Given the description of an element on the screen output the (x, y) to click on. 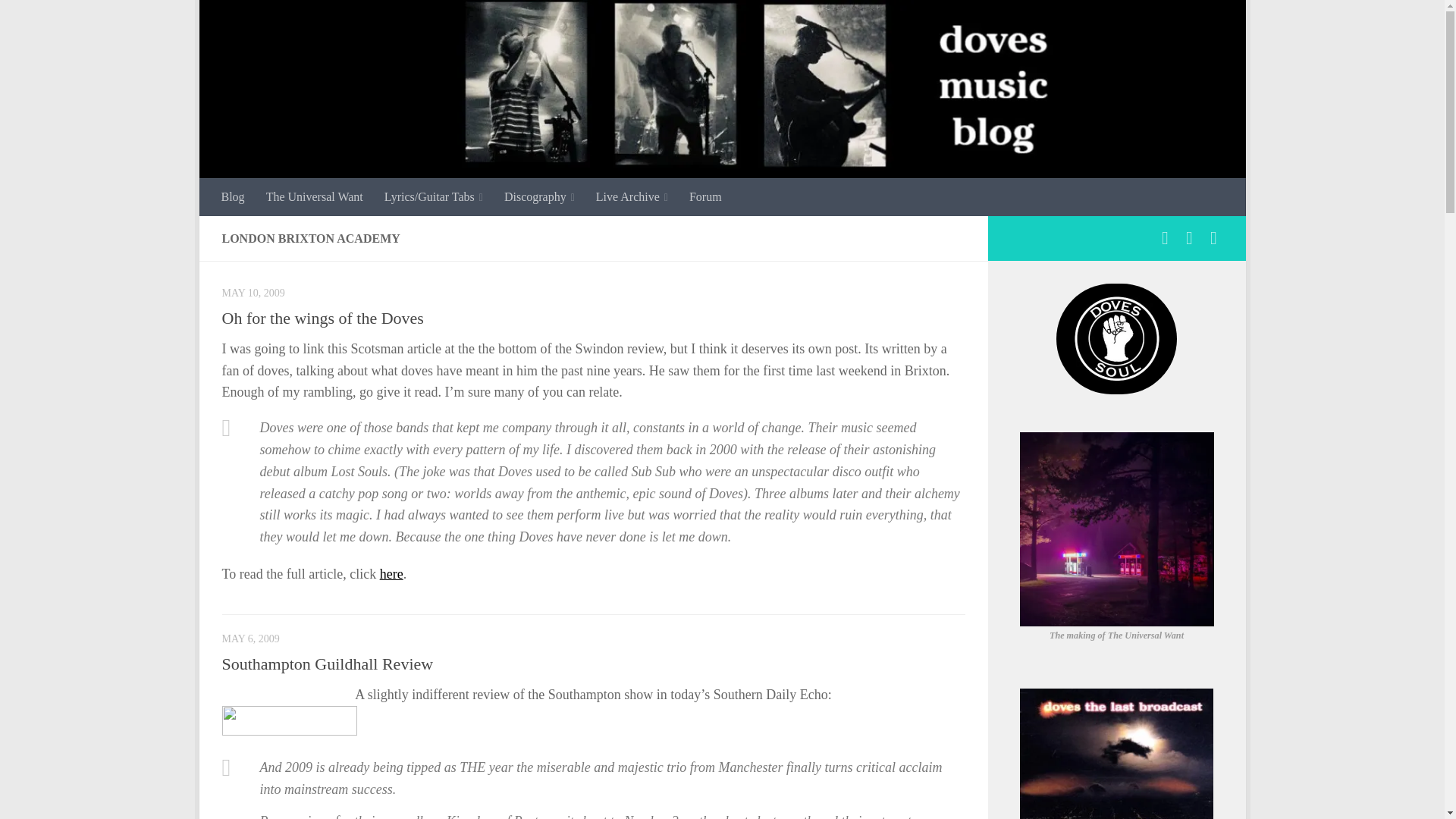
Blog (233, 197)
Skip to content (258, 20)
The Universal Want (315, 197)
Follow us on Twitter (1213, 238)
Follow us on Instagram (1188, 238)
